Given the description of an element on the screen output the (x, y) to click on. 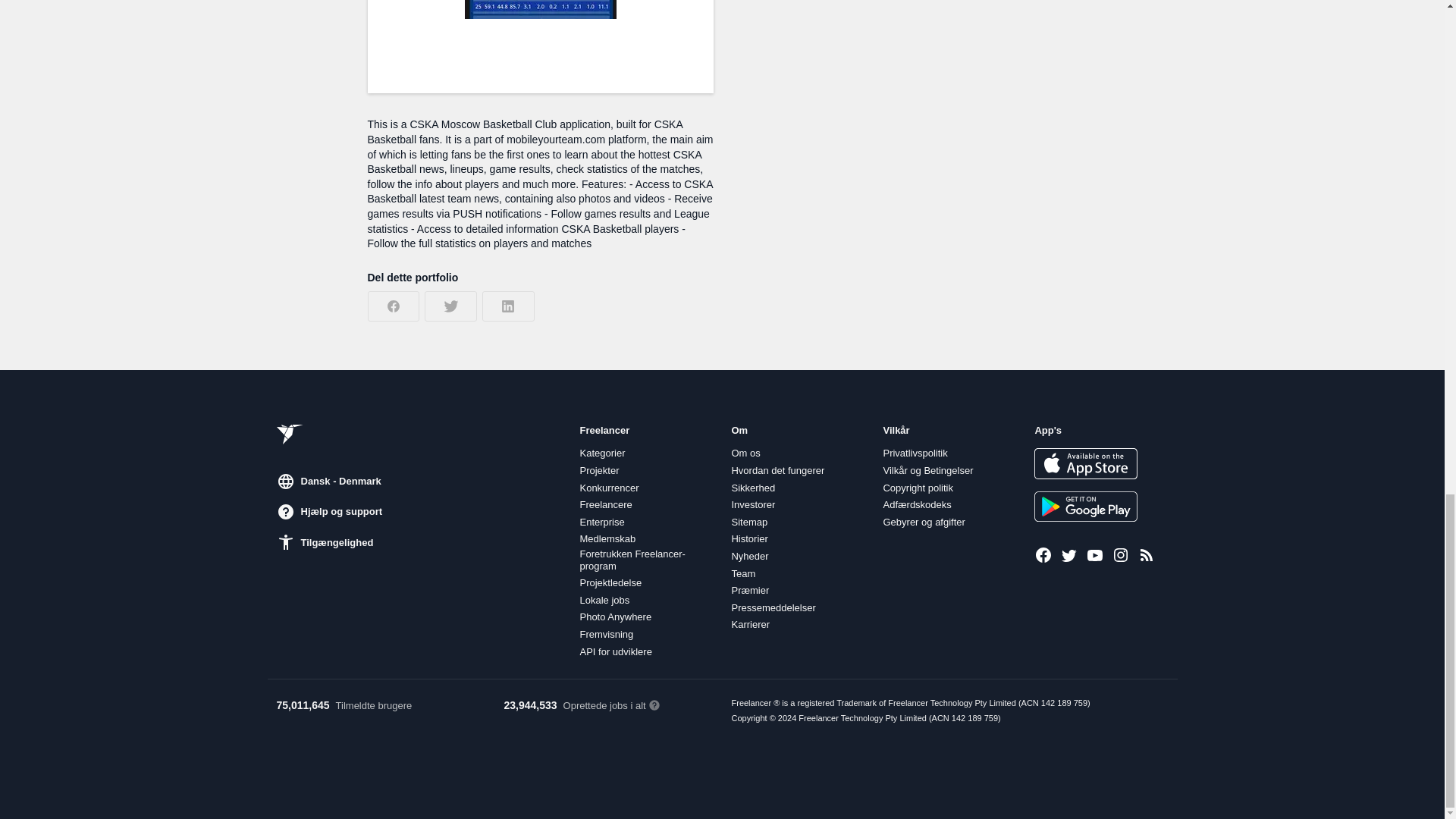
Medlemskab (606, 539)
API for udviklere (614, 652)
Download fra AppStore (1085, 462)
Om os (745, 453)
Projektledelse (610, 582)
Konkurrencer (609, 488)
Foretrukken Freelancer-program (646, 559)
Projekter (598, 470)
Fremvisning (606, 634)
Lokale jobs (603, 600)
Hvordan det fungerer (777, 470)
Enterprise (601, 522)
Photo Anywhere (614, 616)
Dansk - Denmark (328, 481)
Kategorier (601, 453)
